Given the description of an element on the screen output the (x, y) to click on. 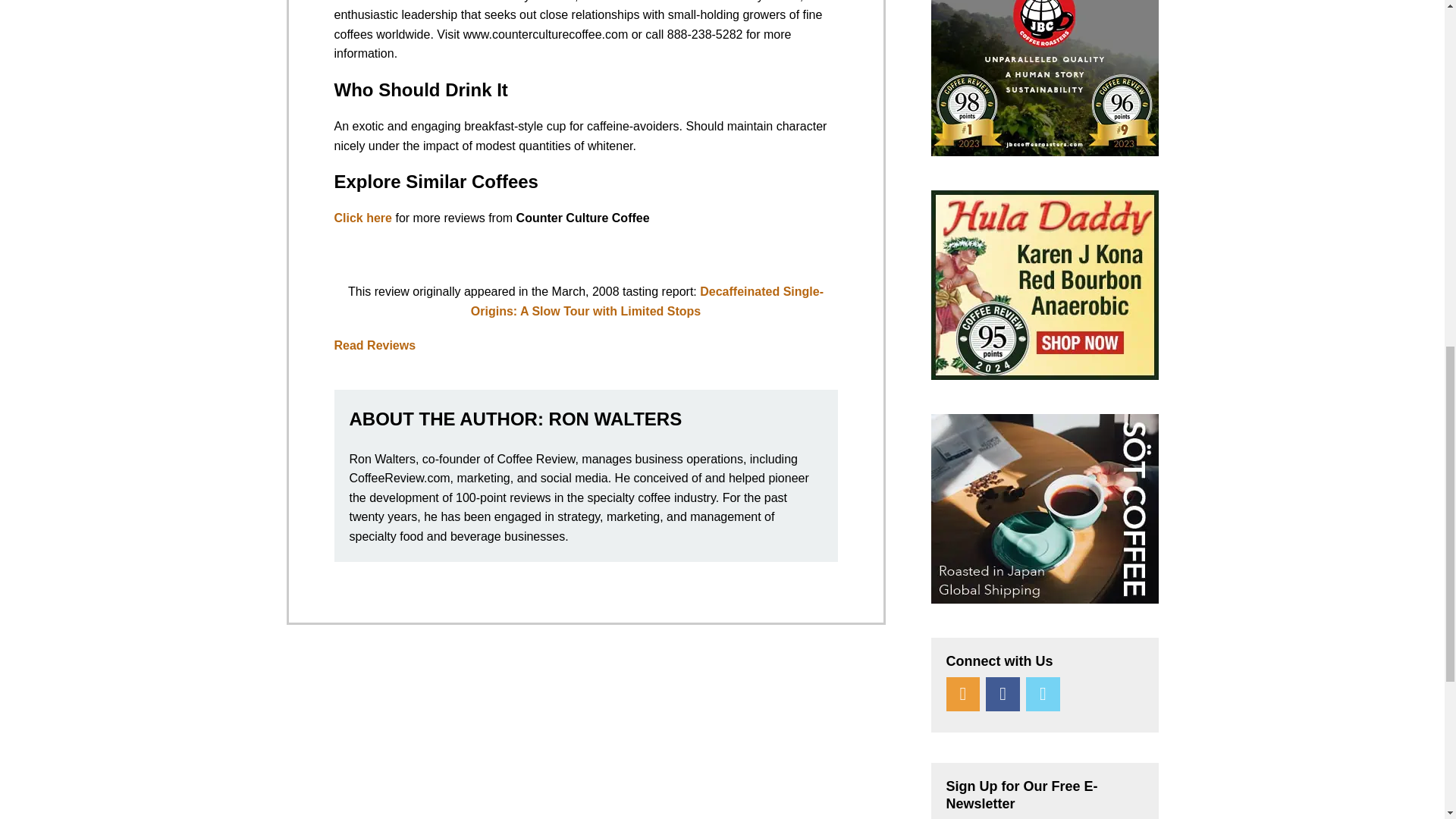
Click here for more reviews from Counter Culture Coffee. (362, 217)
Facebook (1002, 694)
Twitter (1042, 694)
RSS (962, 694)
